Given the description of an element on the screen output the (x, y) to click on. 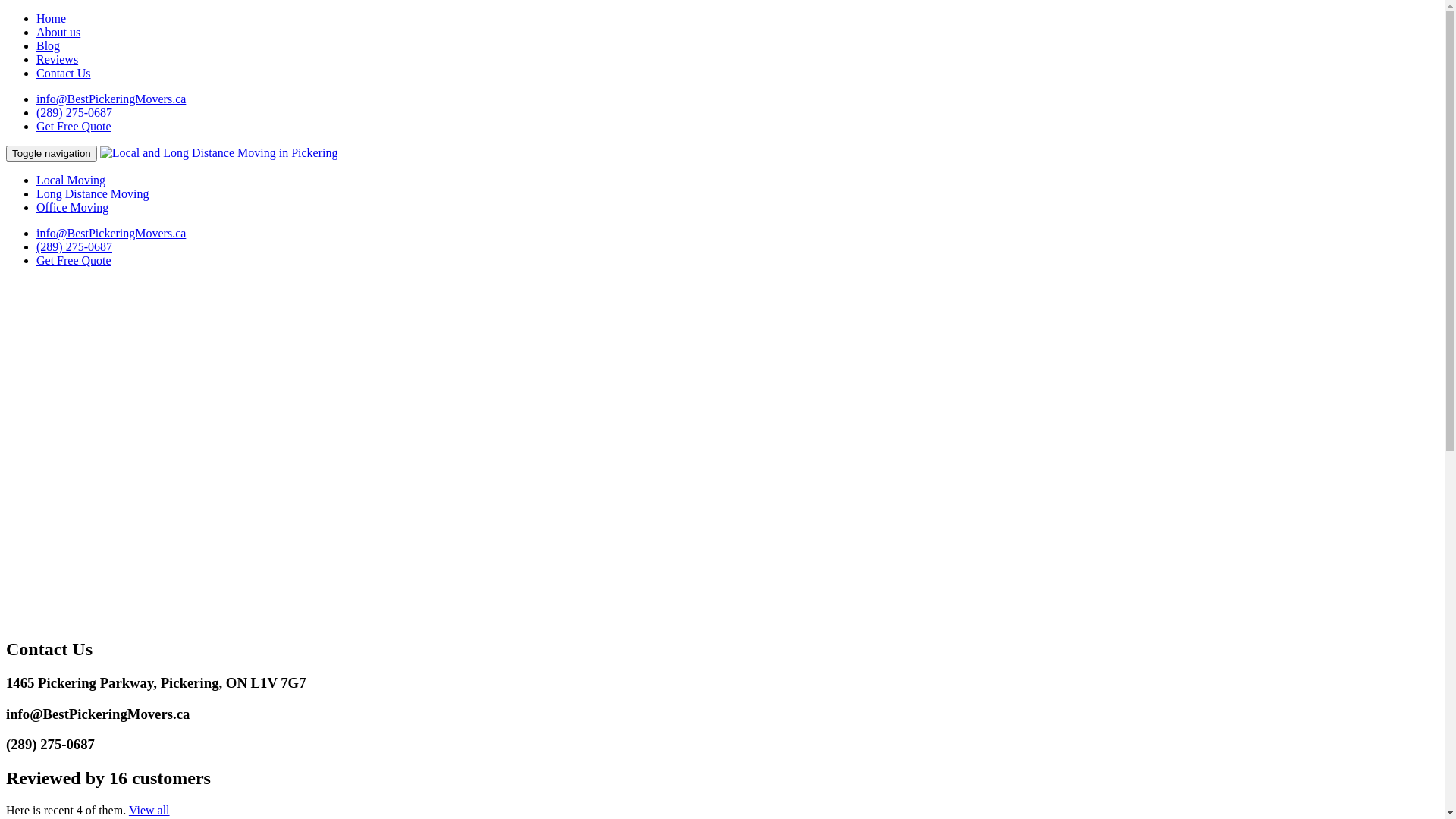
Toggle navigation Element type: text (51, 153)
info@BestPickeringMovers.ca Element type: text (110, 232)
Local Moving Element type: text (70, 179)
(289) 275-0687 Element type: text (74, 246)
View all Element type: text (148, 809)
Get Free Quote Element type: text (73, 125)
Long Distance Moving Element type: text (92, 193)
Home Element type: text (50, 18)
Reviews Element type: text (57, 59)
Contact Us Element type: text (63, 72)
(289) 275-0687 Element type: text (74, 112)
info@BestPickeringMovers.ca Element type: text (110, 98)
Office Moving Element type: text (72, 206)
Best Pickering Movers Element type: hover (219, 152)
Get Free Quote Element type: text (73, 260)
Blog Element type: text (47, 45)
About us Element type: text (58, 31)
